Given the description of an element on the screen output the (x, y) to click on. 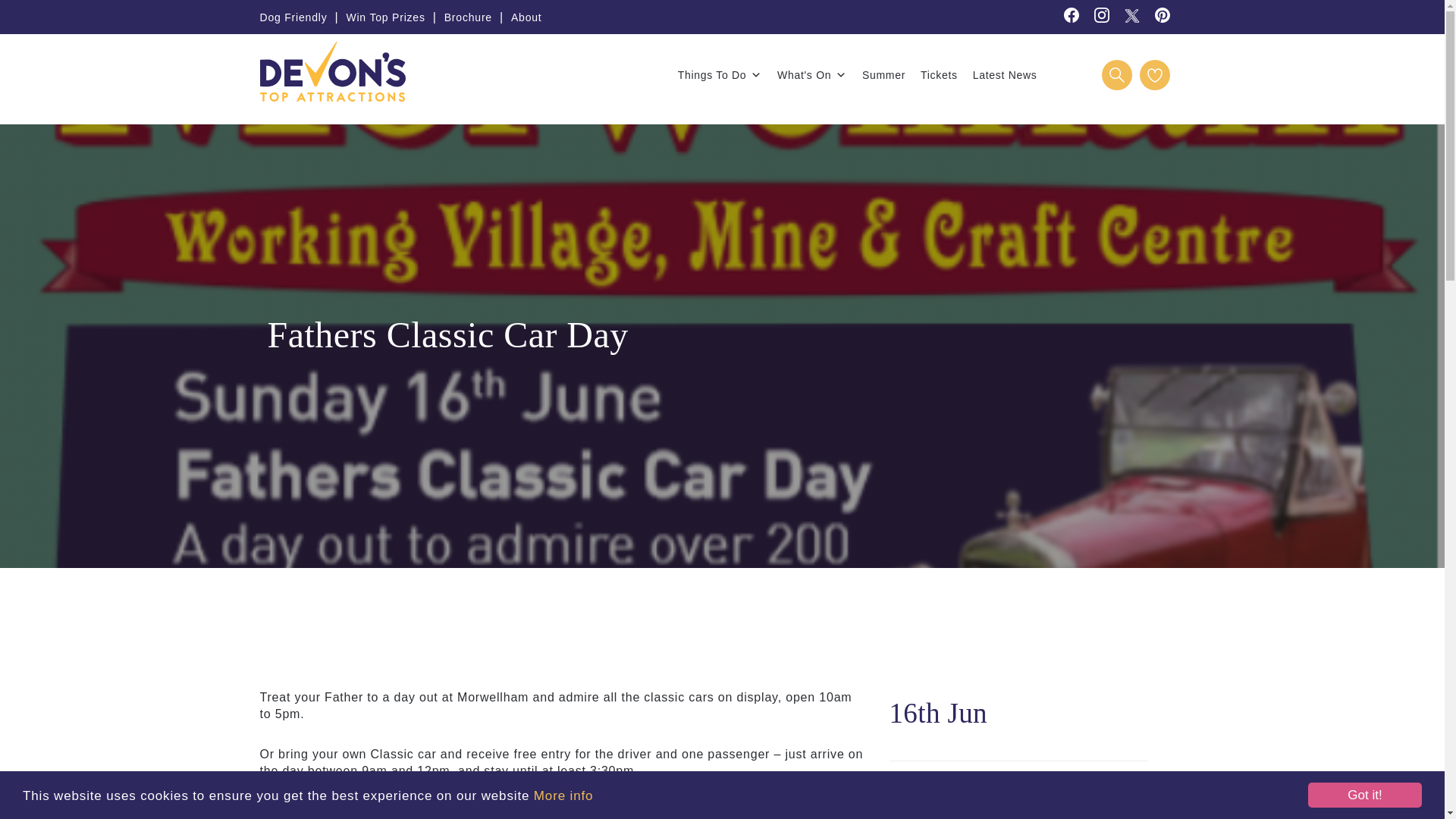
Brochure (468, 16)
Things To Do (719, 74)
Dog Friendly (292, 16)
About (526, 16)
My Favourites (1153, 74)
Win Top Prizes (385, 16)
